Given the description of an element on the screen output the (x, y) to click on. 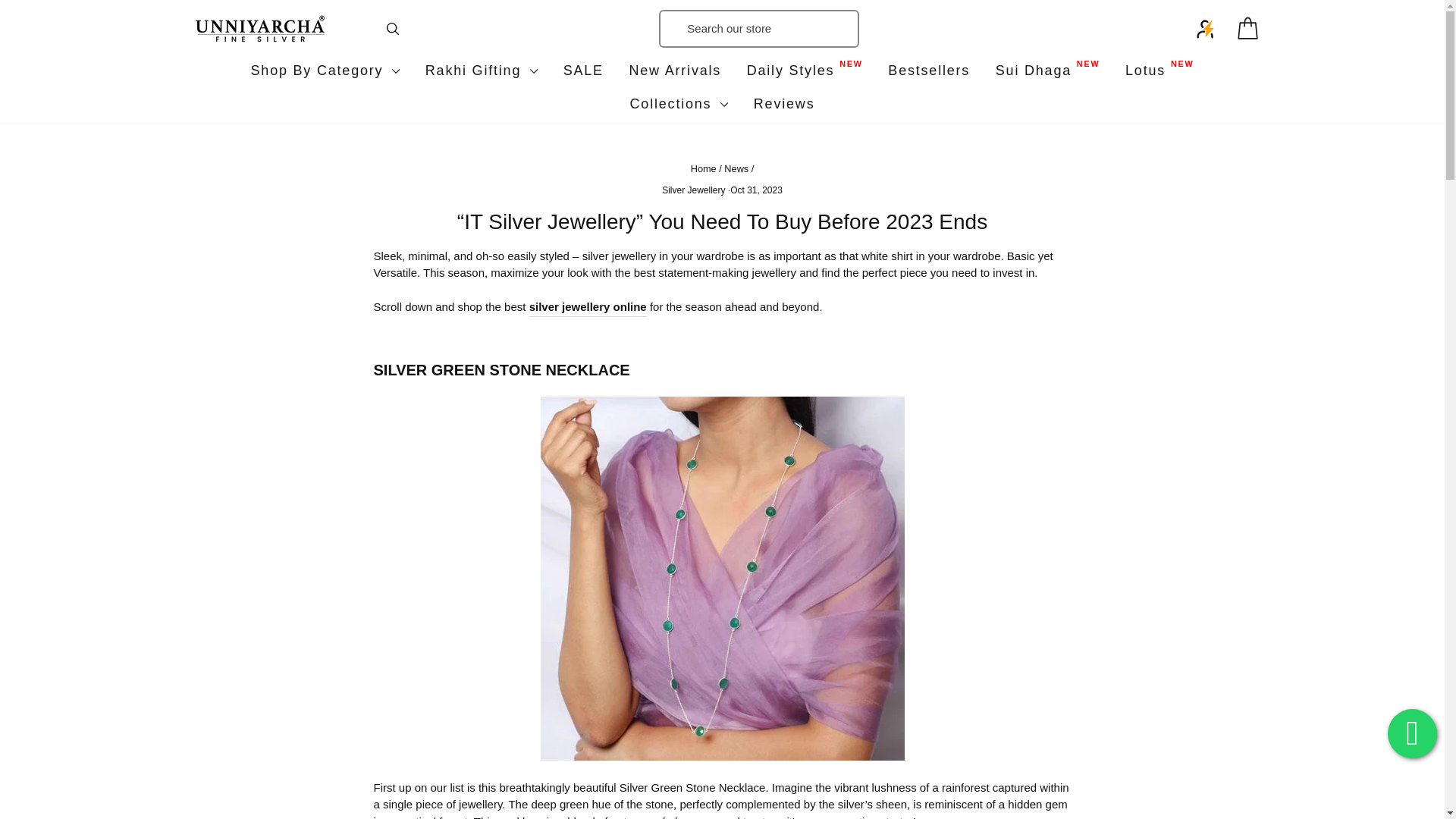
Silver Jewelry (587, 307)
Back to the frontpage (703, 168)
